Given the description of an element on the screen output the (x, y) to click on. 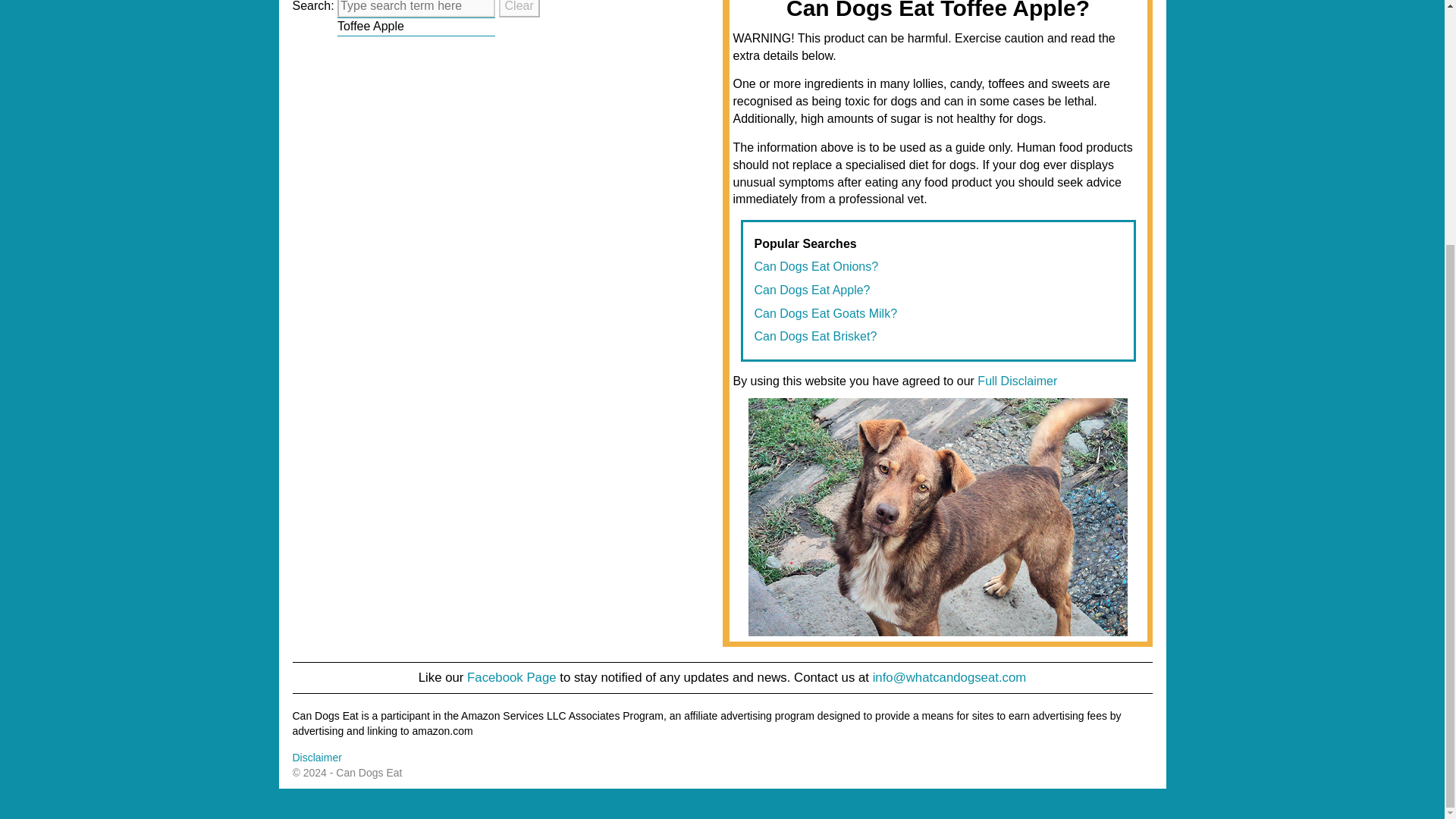
Can Dogs Eat Goats Milk? (825, 313)
Full Disclaimer (1016, 380)
Advertisement (446, 135)
Clear (519, 8)
Can Dogs Eat Brisket? (815, 336)
Disclaimer (317, 757)
Can Dogs Eat Apple? (811, 289)
Can Dogs Eat Onions? (815, 266)
Facebook Page (511, 677)
